Given the description of an element on the screen output the (x, y) to click on. 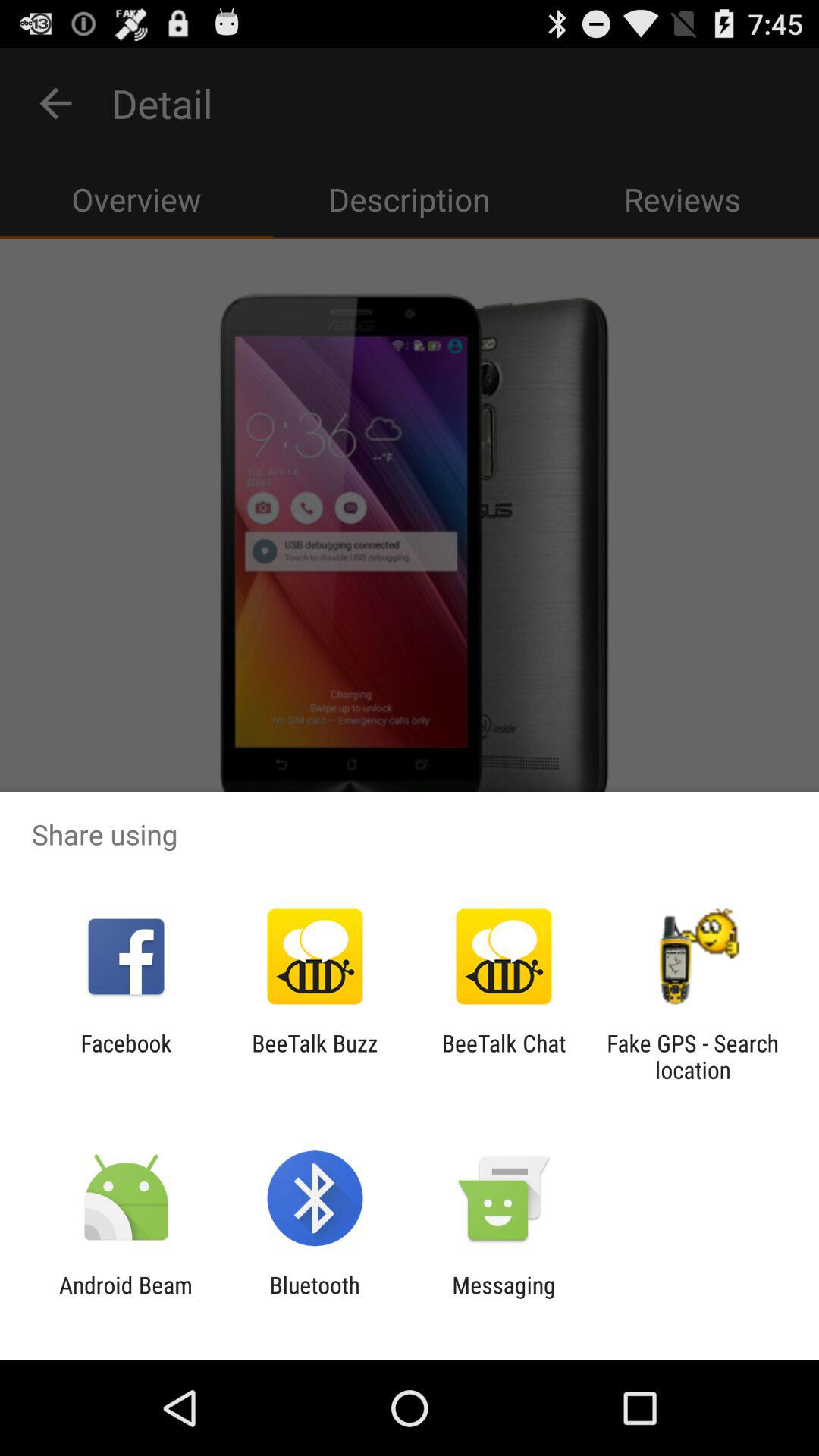
swipe to bluetooth icon (314, 1298)
